Given the description of an element on the screen output the (x, y) to click on. 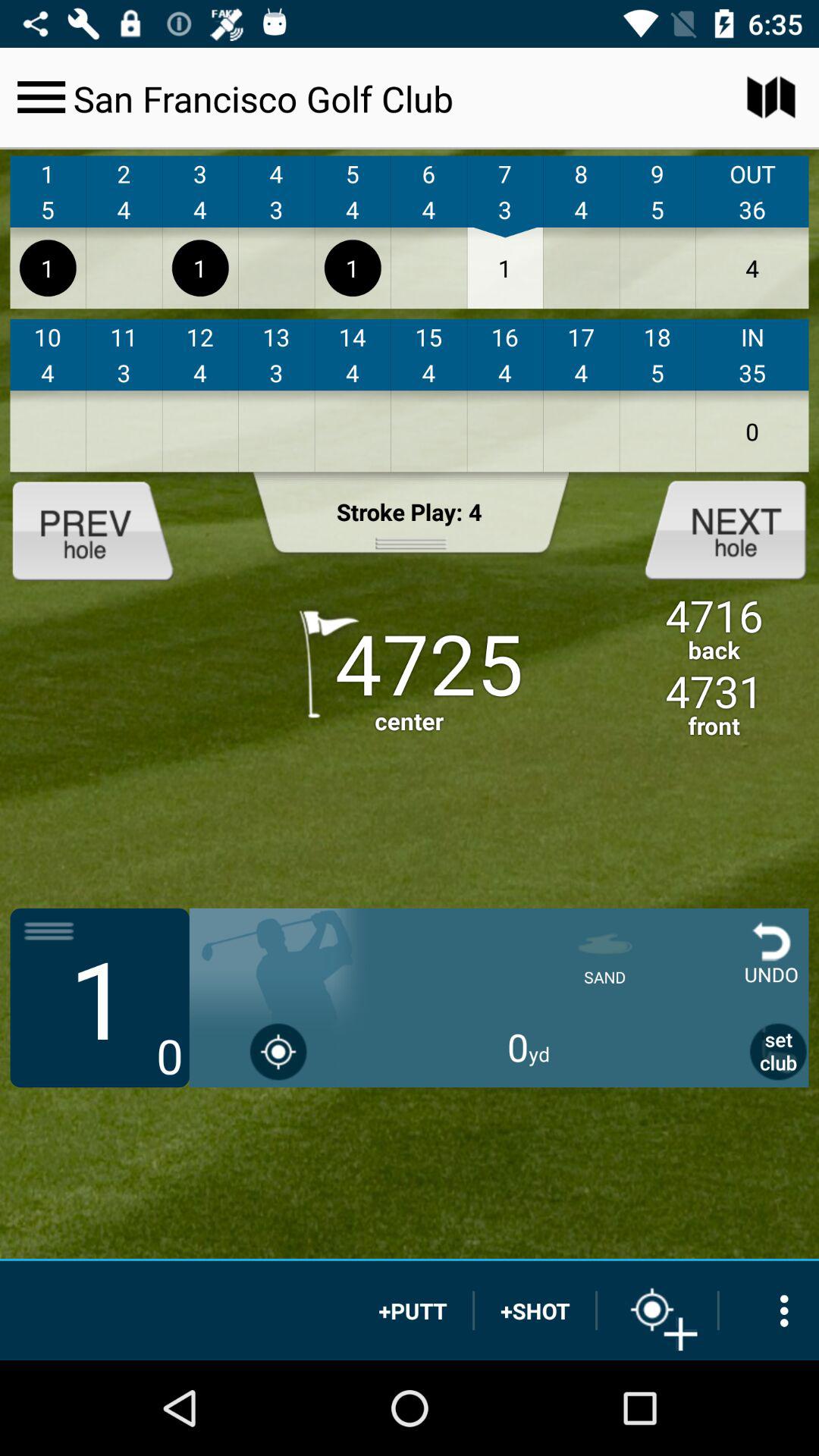
options (769, 1310)
